Given the description of an element on the screen output the (x, y) to click on. 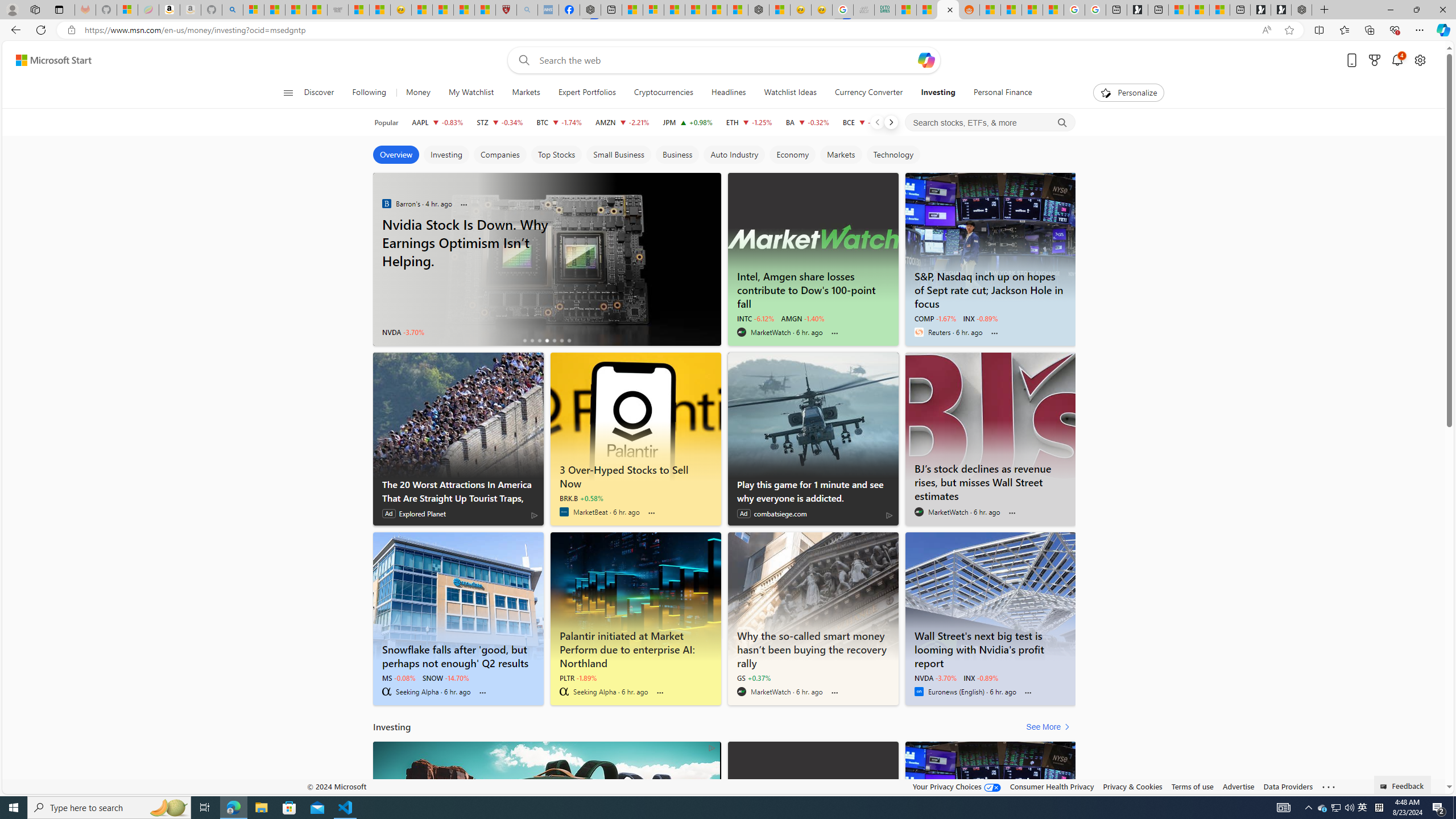
Advertise (1238, 785)
Nordace - Nordace Siena Is Not An Ordinary Backpack (1301, 9)
list of asthma inhalers uk - Search - Sleeping (527, 9)
MSNBC - MSN (906, 9)
Currency Converter (868, 92)
MS -0.08% (398, 677)
NVDA -3.70% (935, 677)
Web search (520, 60)
Restore (1416, 9)
Privacy & Cookies (1131, 786)
